Given the description of an element on the screen output the (x, y) to click on. 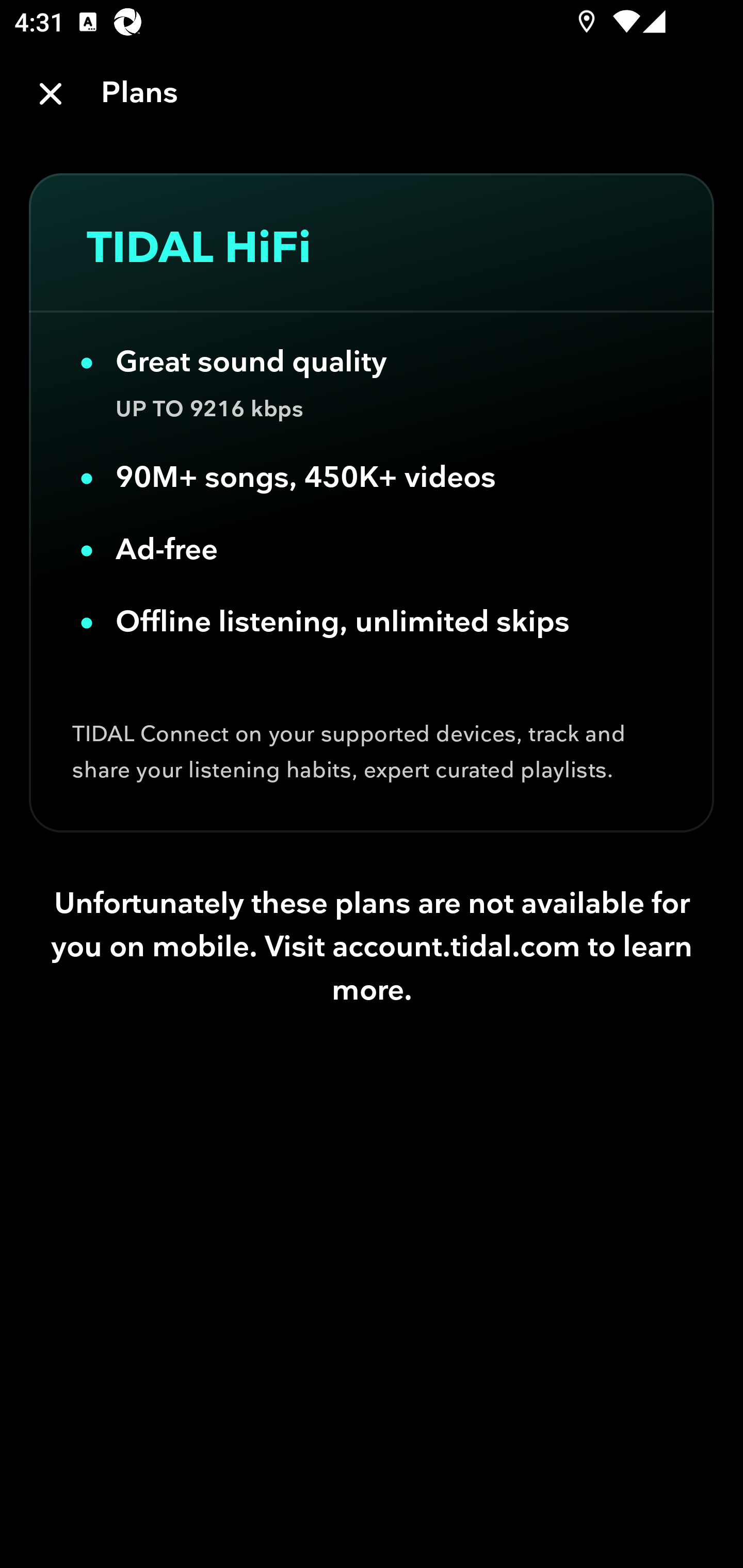
Close (50, 93)
